Given the description of an element on the screen output the (x, y) to click on. 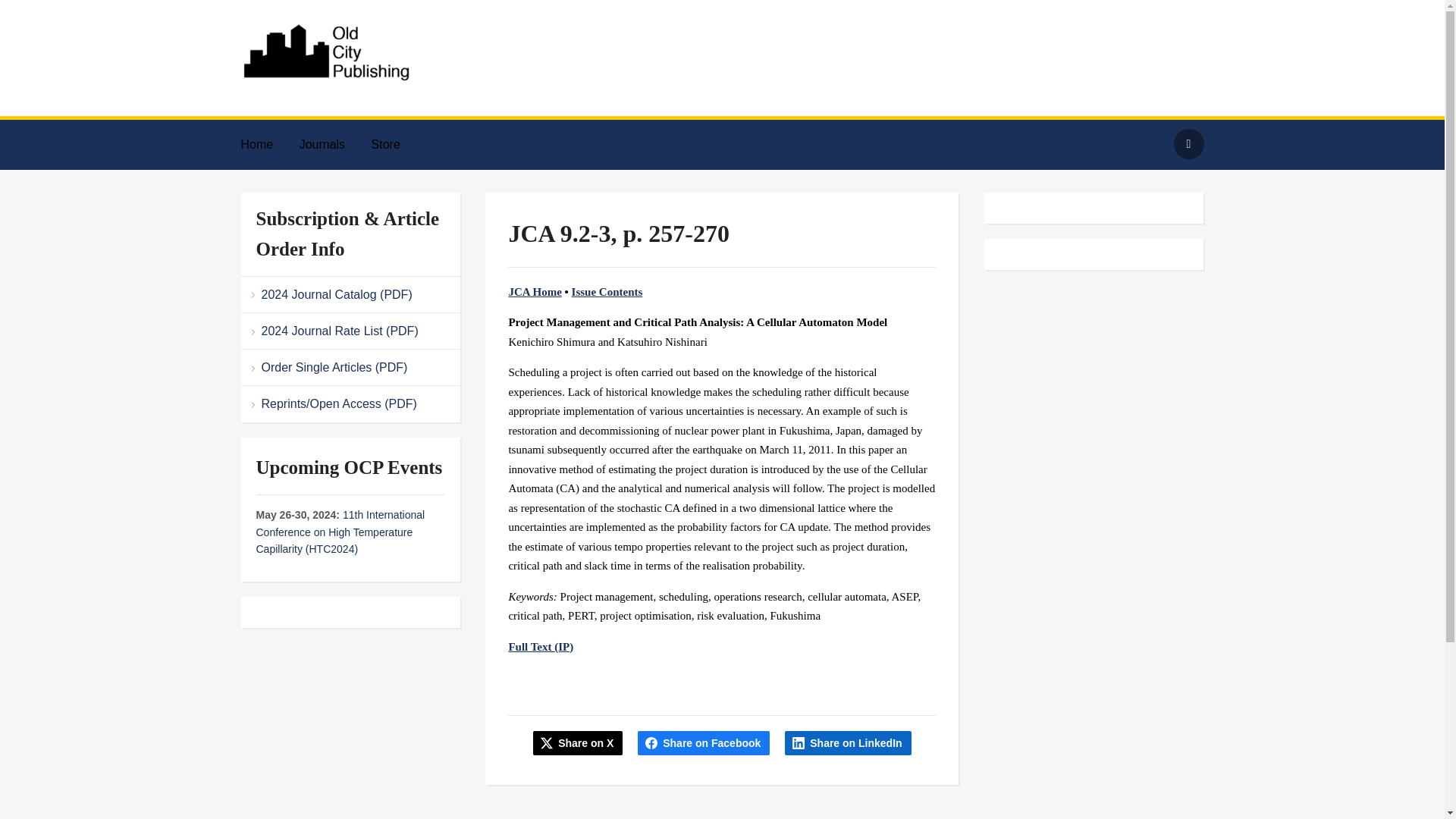
Search (1188, 143)
Share this on Facebook (703, 743)
Issue Contents (607, 291)
Share on LinkedIn (847, 743)
Home (269, 144)
Store (397, 144)
Share on X (577, 743)
JCA Home (534, 291)
Journals (333, 144)
Share this on X (577, 743)
Share on Facebook (703, 743)
Share on LinkedIn (847, 743)
